Given the description of an element on the screen output the (x, y) to click on. 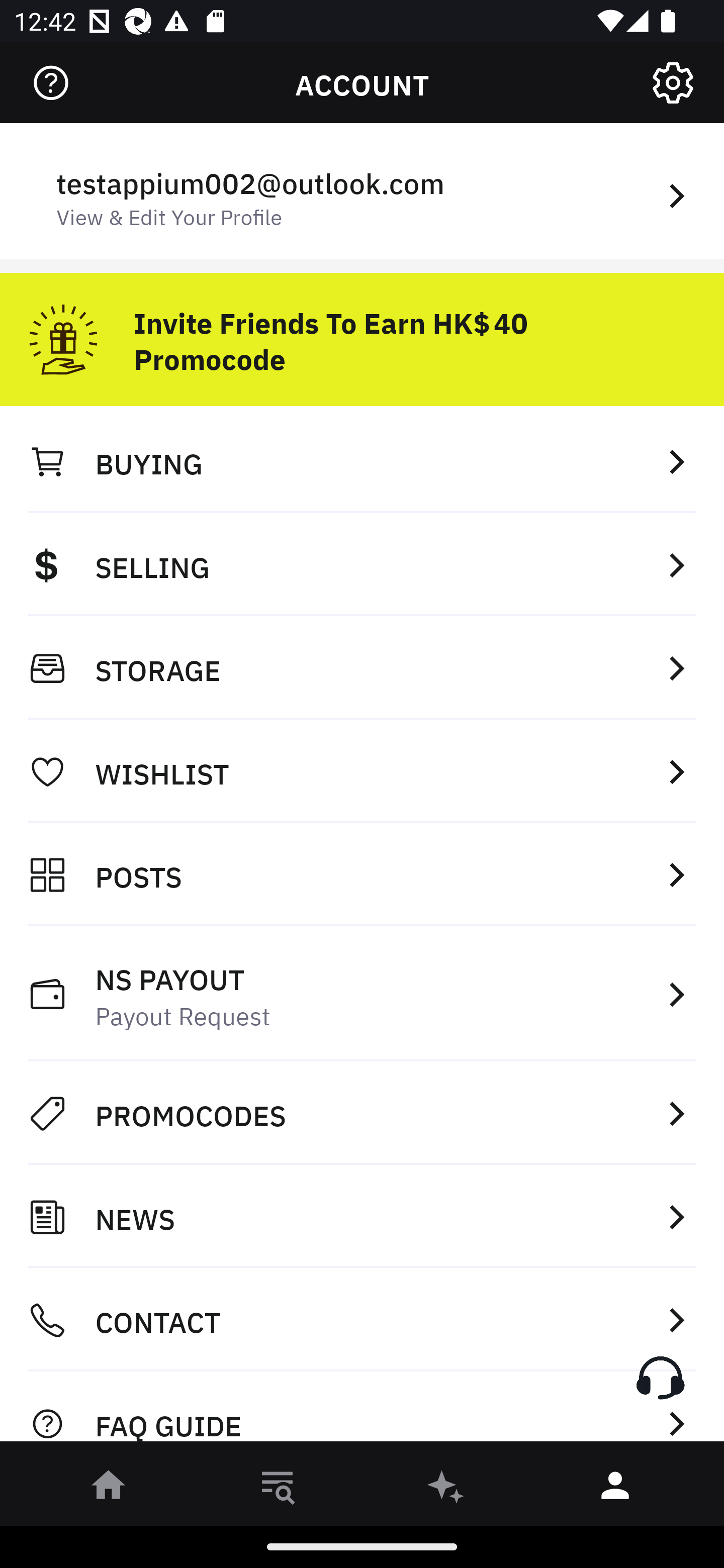
 (50, 83)
 (672, 83)
Invite Friends To Earn HK$ 40 Promocode (362, 332)
 BUYING  (361, 460)
 SELLING  (361, 564)
 STORAGE  (361, 667)
 WISHLIST  (361, 771)
 POSTS  (361, 874)
 0 NS PAYOUT Payout Request  (361, 993)
 PROMOCODES  (361, 1113)
 NEWS  (361, 1216)
 CONTACT  (361, 1320)
 FAQ GUIDE  (361, 1411)
󰋜 (108, 1488)
󱎸 (277, 1488)
󰫢 (446, 1488)
󰀄 (615, 1488)
